Given the description of an element on the screen output the (x, y) to click on. 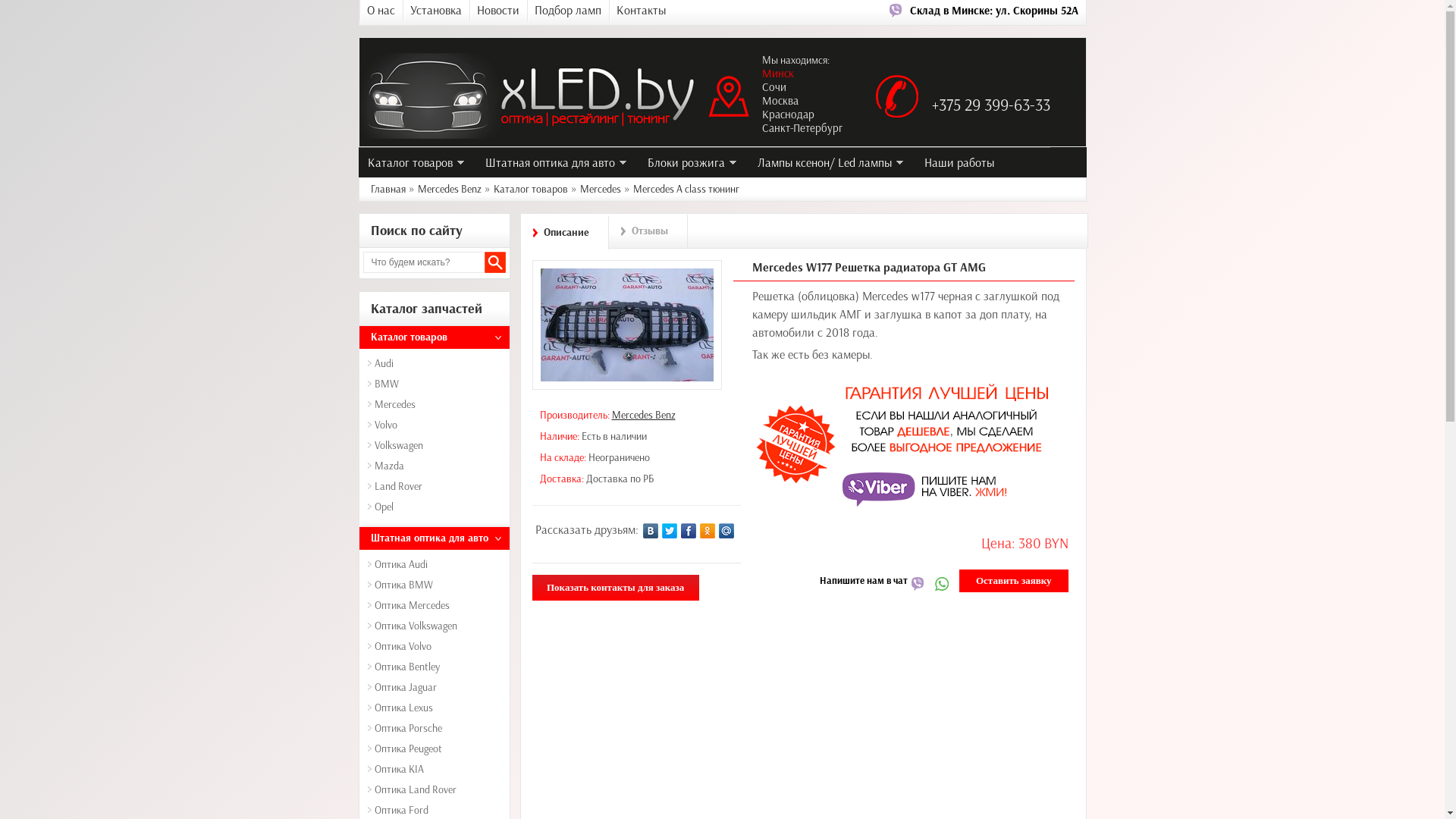
Mercedes Benz Element type: text (448, 188)
Opel Element type: text (436, 508)
Mercedes Benz Element type: text (642, 414)
Audi Element type: text (436, 365)
Volkswagen Element type: text (436, 447)
Mercedes Element type: text (599, 188)
+375 29 399-63-33 Element type: text (990, 105)
Mazda Element type: text (436, 467)
BMW Element type: text (436, 385)
Land Rover Element type: text (436, 488)
Mercedes Element type: text (436, 406)
Volvo Element type: text (436, 426)
